Given the description of an element on the screen output the (x, y) to click on. 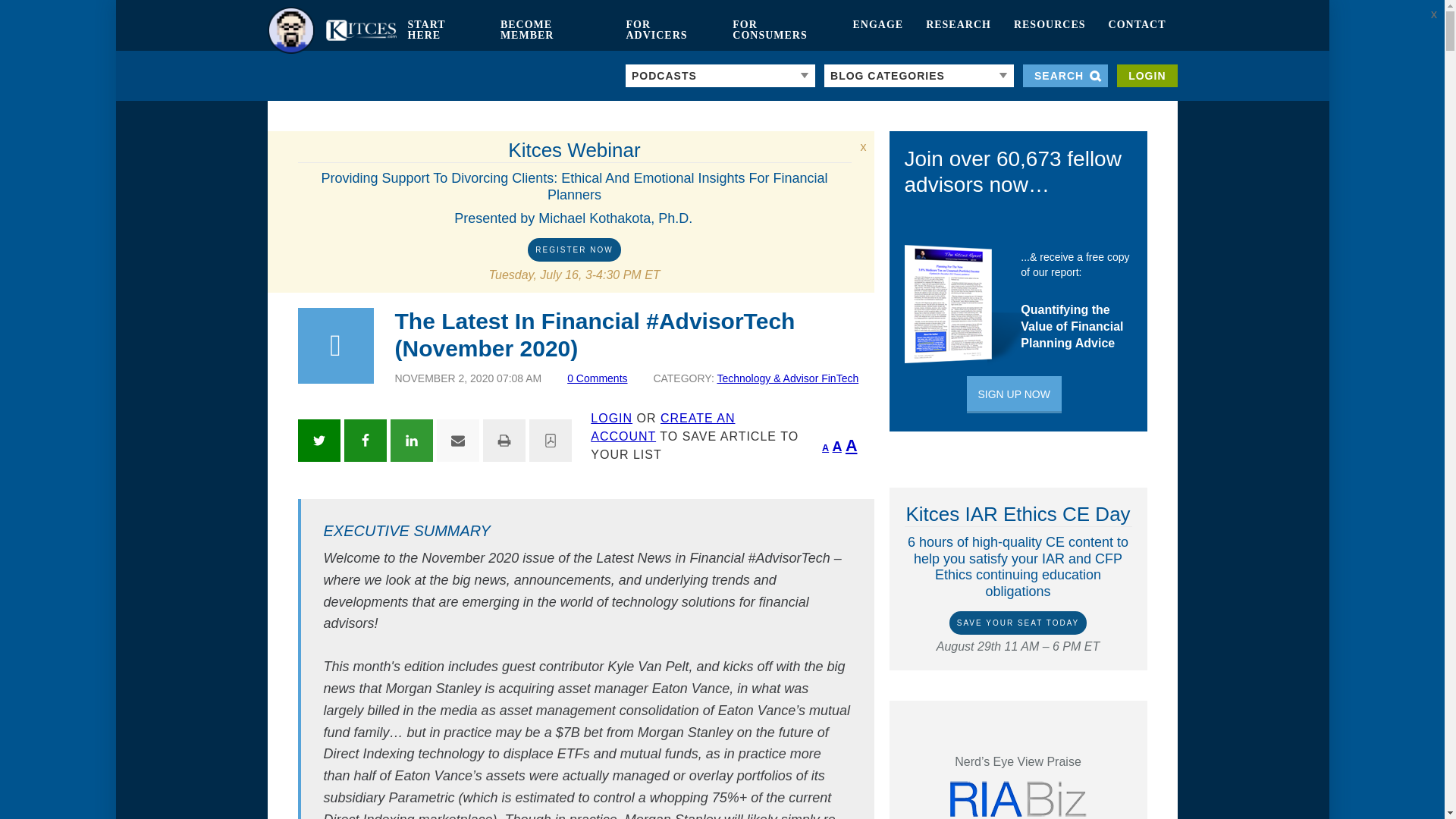
FOR ADVICERS (667, 30)
Reset font size (836, 446)
Share on Facebook (365, 440)
Kitces.com (331, 29)
CONTACT (1137, 30)
FOR CONSUMERS (780, 30)
Share via Email (457, 440)
Share on LinkedIn (411, 440)
RESEARCH (958, 30)
RESOURCES (1050, 30)
ENGAGE (877, 30)
Decrease font size (825, 448)
Share on Twitter (318, 440)
START HERE (441, 30)
BECOME MEMBER (551, 30)
